Given the description of an element on the screen output the (x, y) to click on. 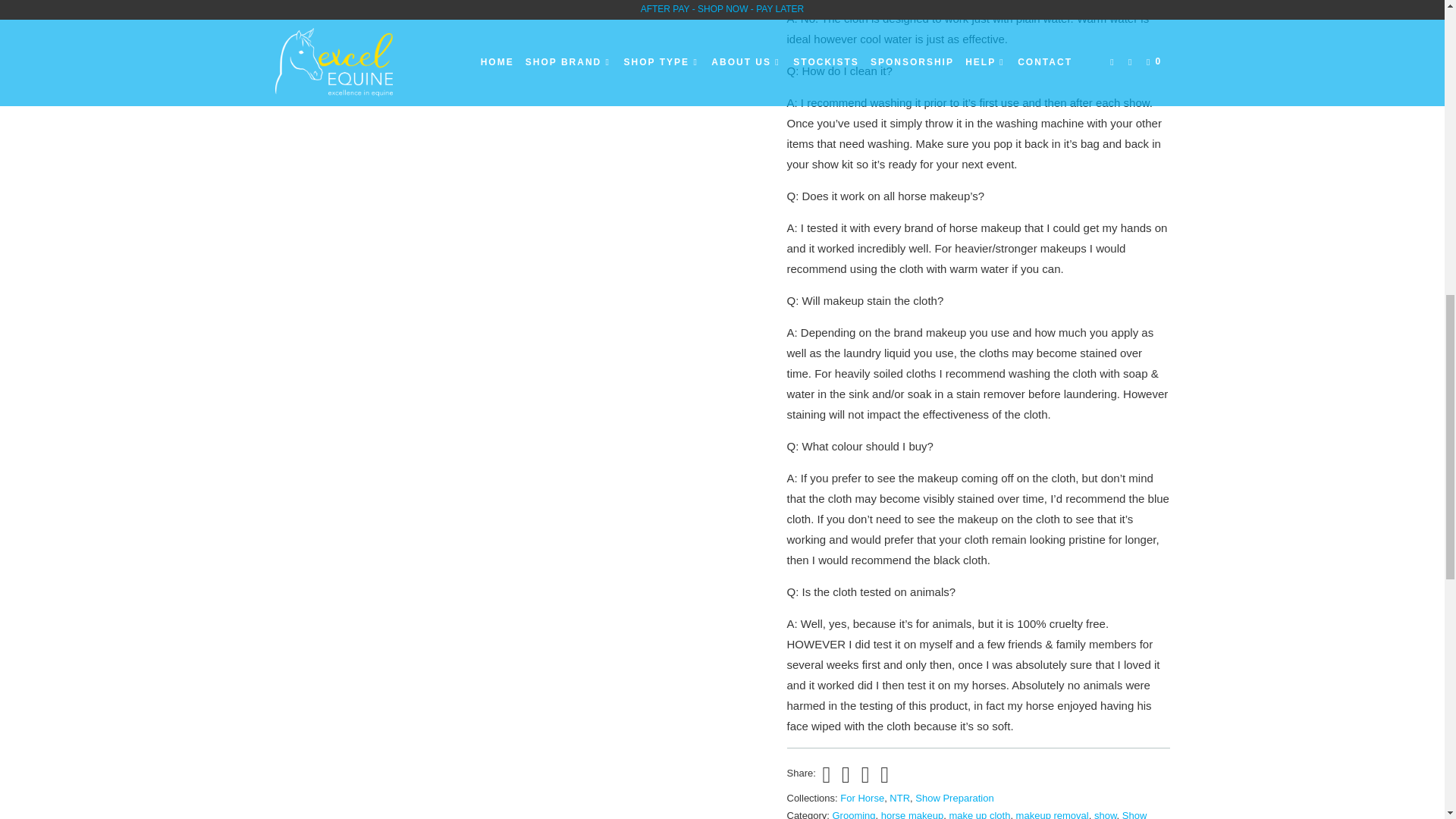
For Horse (861, 797)
Products tagged Grooming (854, 814)
Show Preparation (953, 797)
NTR (899, 797)
Products tagged make up cloth (979, 814)
Products tagged makeup removal (1052, 814)
Products tagged horse makeup (911, 814)
